Given the description of an element on the screen output the (x, y) to click on. 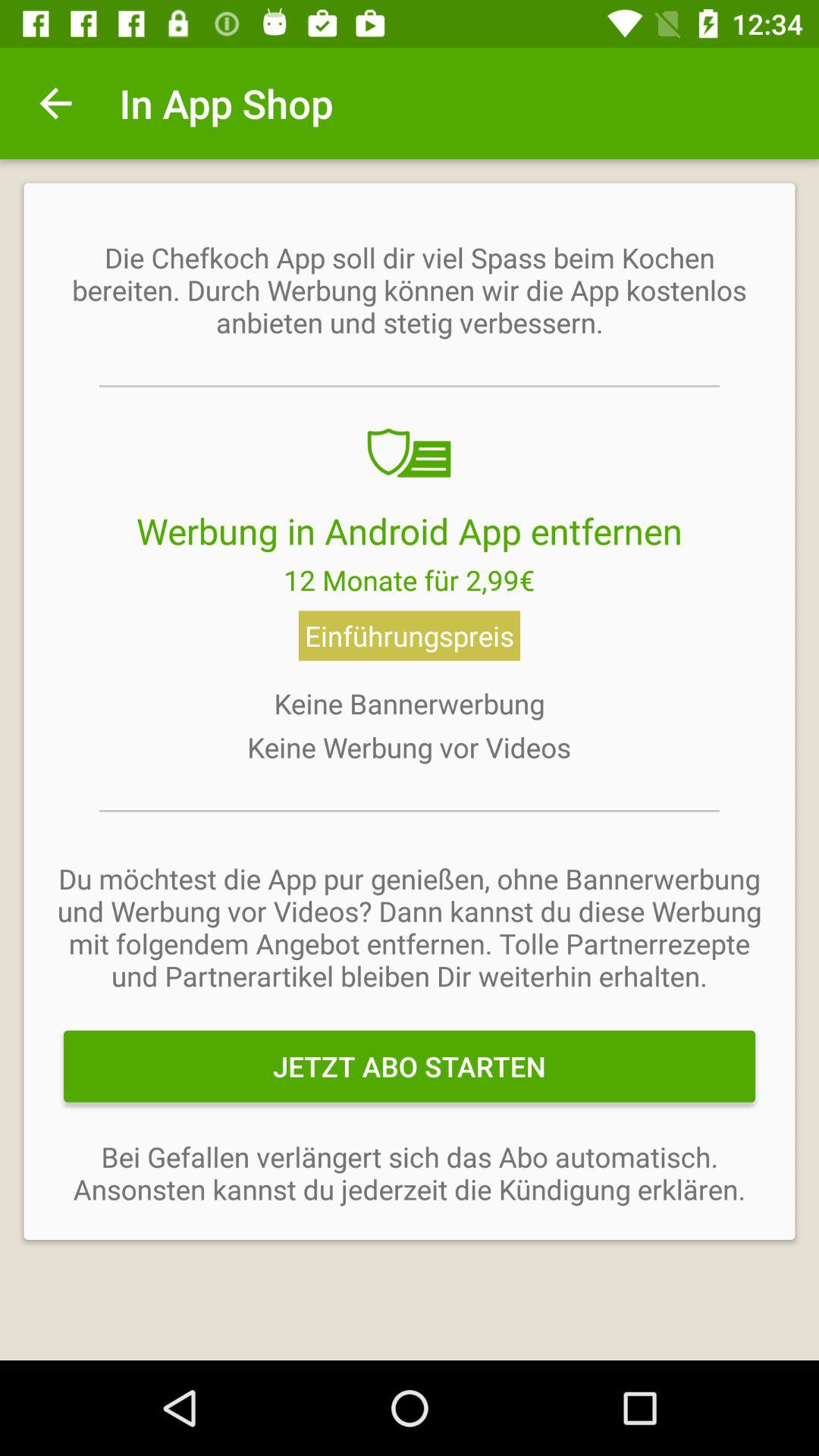
flip to the jetzt abo starten icon (409, 1066)
